Given the description of an element on the screen output the (x, y) to click on. 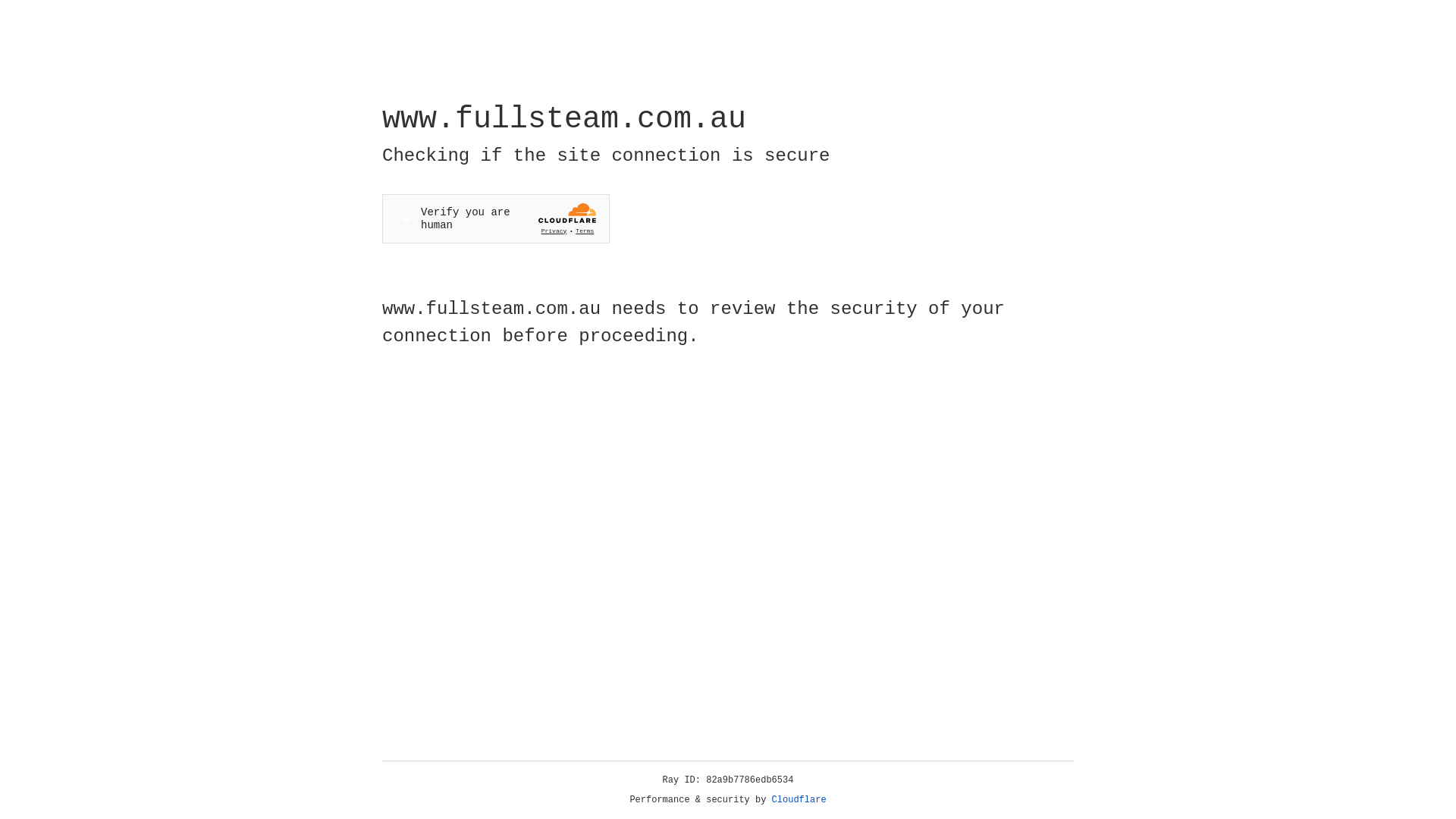
Cloudflare Element type: text (798, 799)
Widget containing a Cloudflare security challenge Element type: hover (495, 218)
